Given the description of an element on the screen output the (x, y) to click on. 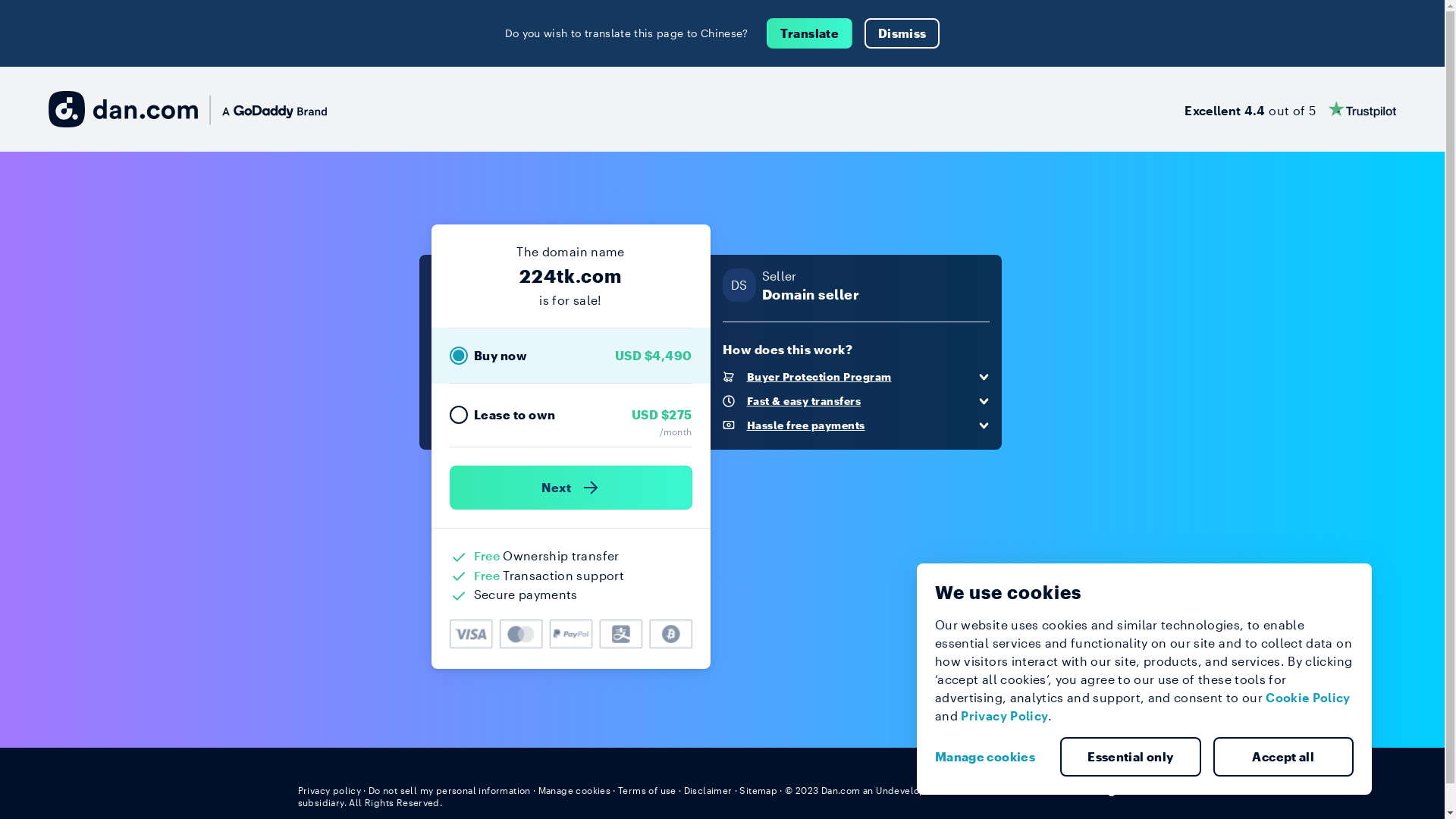
Privacy Policy Element type: text (1004, 715)
Accept all Element type: text (1283, 756)
Sitemap Element type: text (758, 789)
Do not sell my personal information Element type: text (449, 789)
Next
) Element type: text (569, 487)
Manage cookies Element type: text (574, 790)
English Element type: text (1119, 789)
Cookie Policy Element type: text (1307, 697)
Excellent 4.4 out of 5 Element type: text (1290, 109)
Disclaimer Element type: text (708, 789)
Privacy policy Element type: text (328, 789)
Dismiss Element type: text (901, 33)
Translate Element type: text (809, 33)
Manage cookies Element type: text (991, 756)
Terms of use Element type: text (647, 789)
Essential only Element type: text (1130, 756)
